Given the description of an element on the screen output the (x, y) to click on. 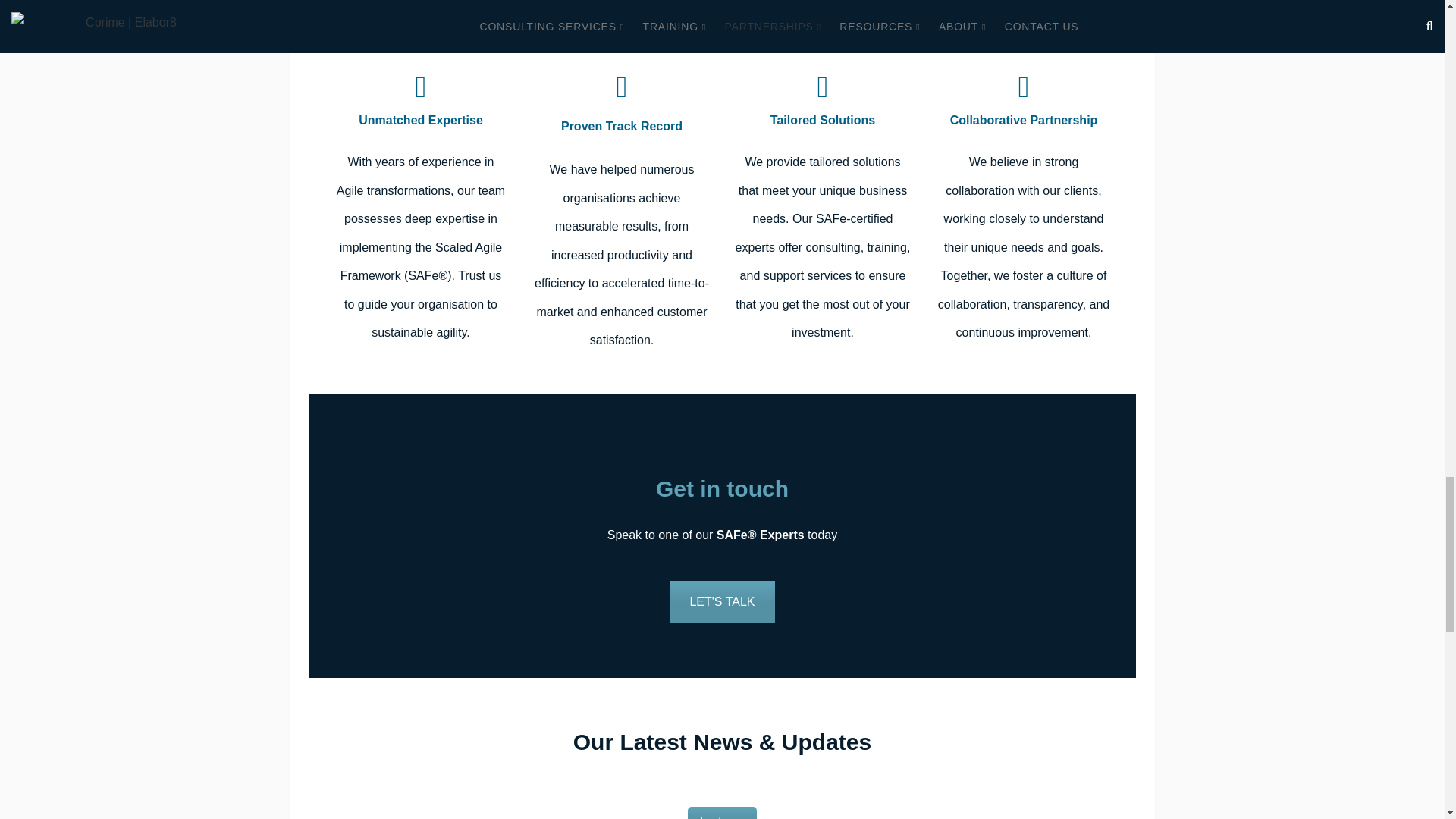
Load more (722, 812)
LET'S TALK (721, 601)
